Given the description of an element on the screen output the (x, y) to click on. 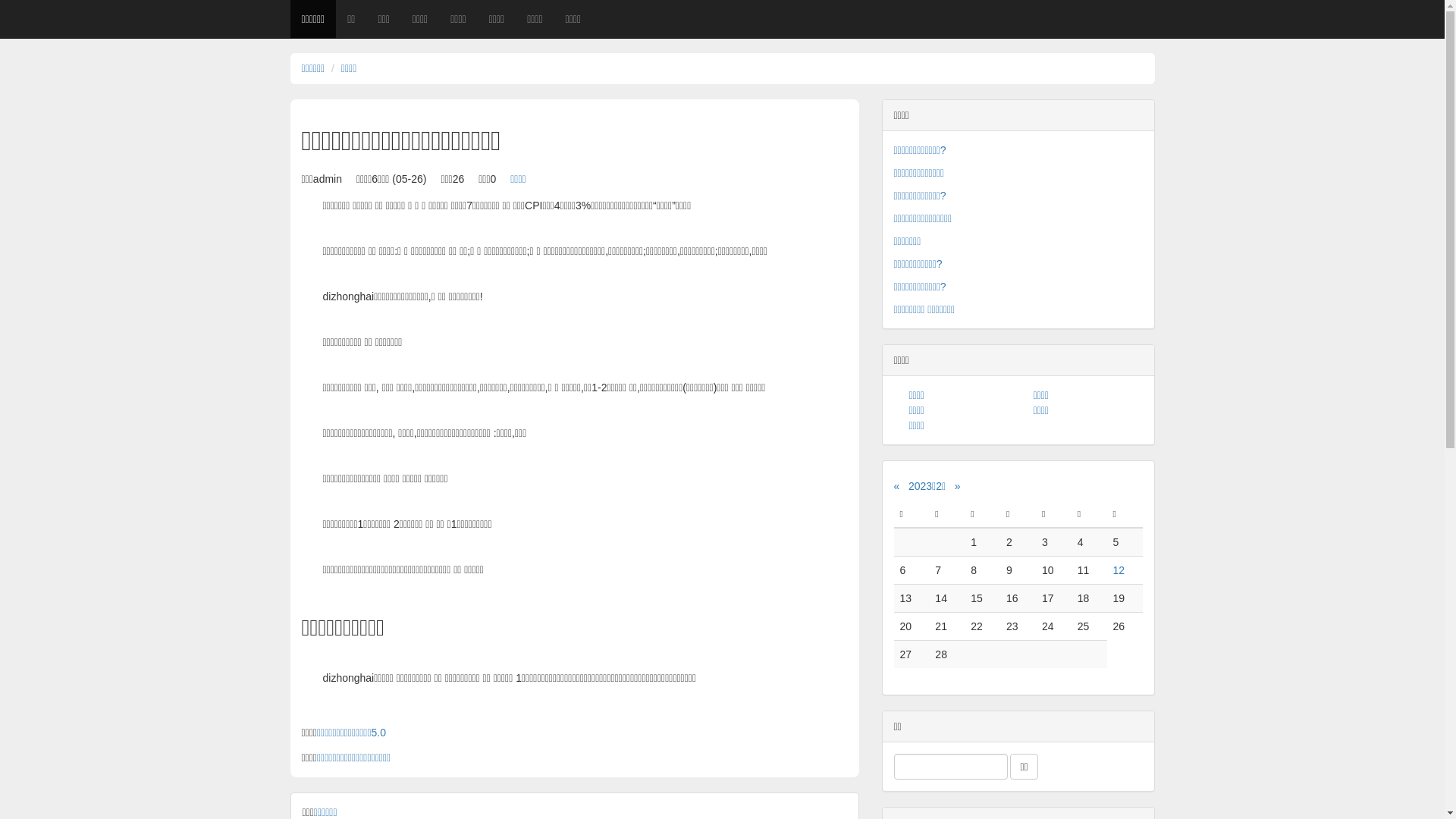
12 Element type: text (1119, 570)
